Given the description of an element on the screen output the (x, y) to click on. 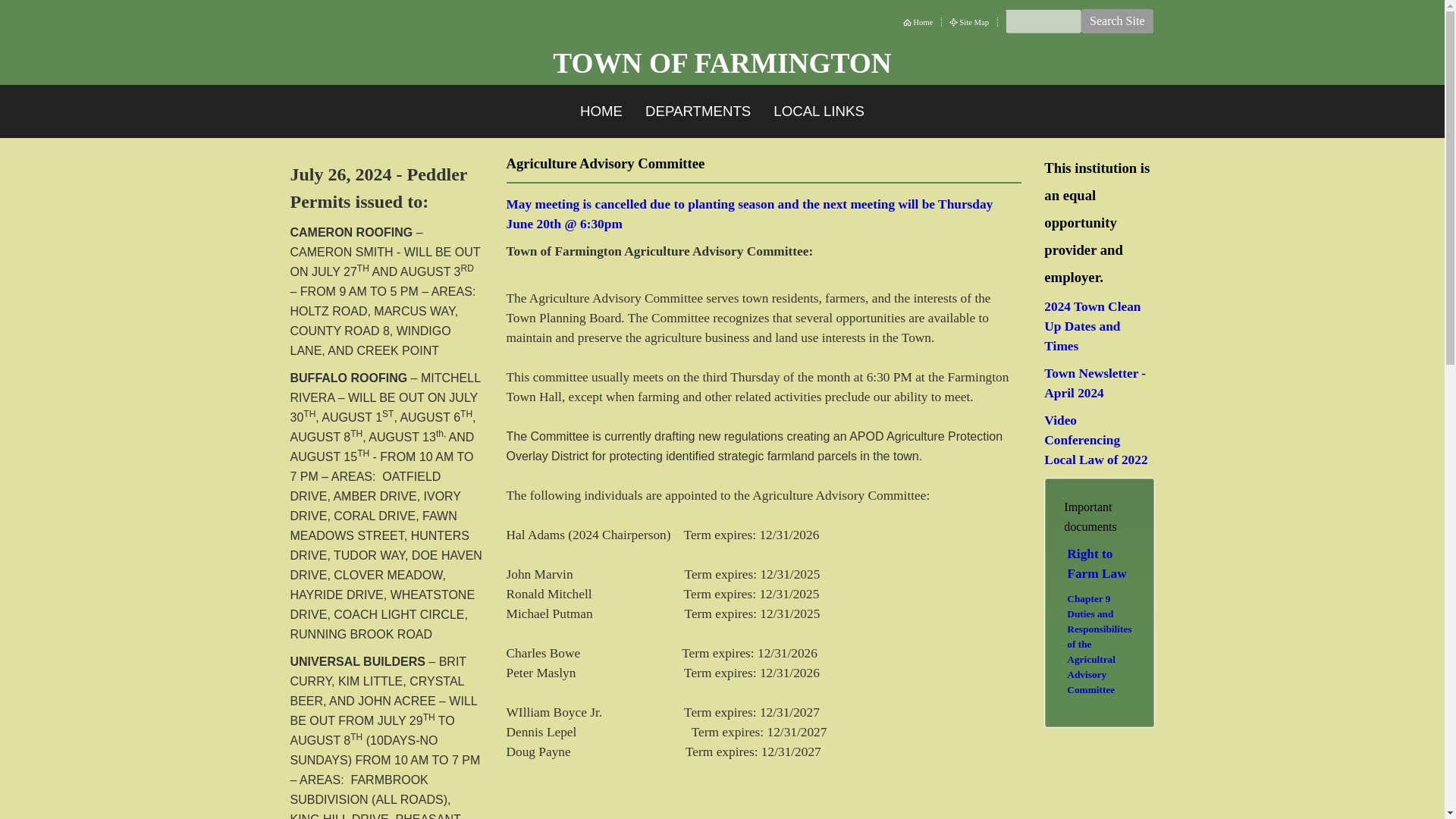
Site Map (974, 22)
Search Site (1117, 21)
Search Site (1117, 21)
HOME (601, 111)
2024 Town Clean Up Dates and Times (1091, 325)
Right to Farm Law (1096, 563)
LOCAL LINKS (818, 111)
TOWN OF FARMINGTON (721, 63)
Town Newsletter - April 2024 (1094, 383)
Video Conferencing Local Law of 2022 (1095, 439)
Home (923, 22)
DEPARTMENTS (697, 111)
